Given the description of an element on the screen output the (x, y) to click on. 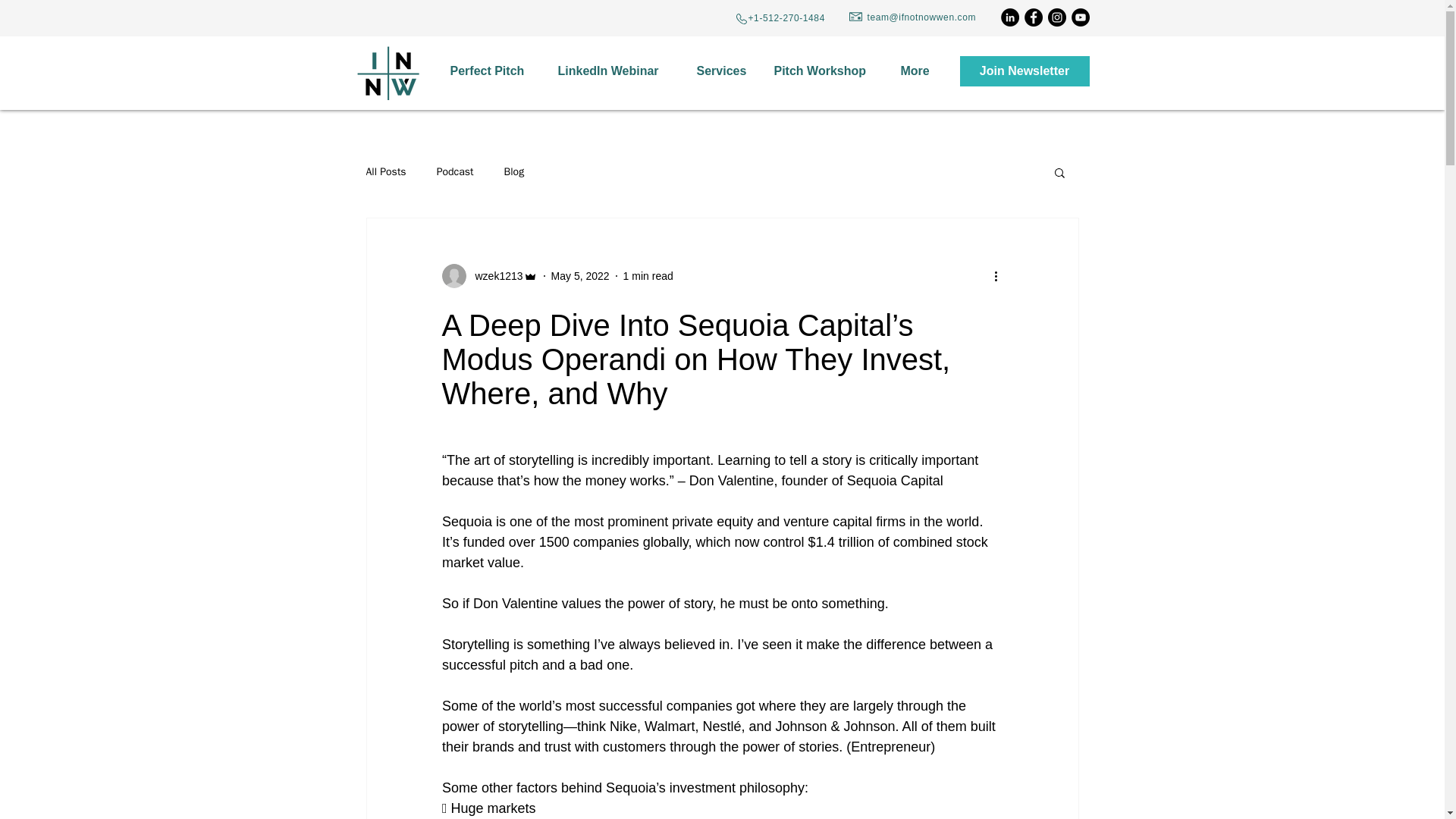
wzek1213 (493, 276)
If Now Now Wen Consulting Logo (387, 72)
All Posts (385, 172)
Perfect Pitch (492, 71)
May 5, 2022 (580, 275)
1 min read (647, 275)
Blog (513, 172)
Join Newsletter (1024, 71)
wzek1213 (489, 275)
LinkedIn Webinar (615, 71)
